Given the description of an element on the screen output the (x, y) to click on. 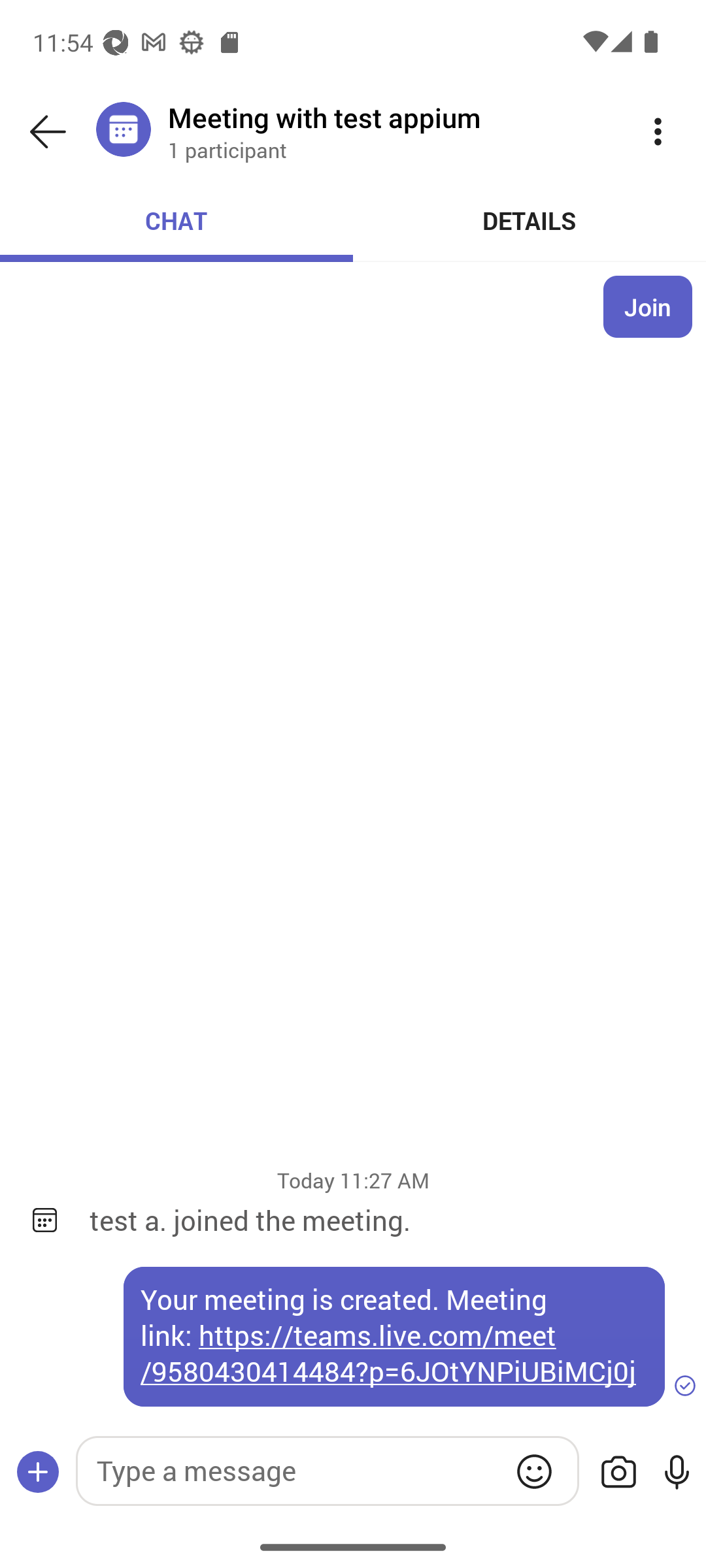
Back (48, 131)
More options (657, 131)
Details DETAILS (529, 220)
Join (647, 306)
test a. joined the meeting. (383, 1219)
Compose options, collapsed (37, 1471)
Button for loading camera action functionality (618, 1471)
Type a message (326, 1470)
GIFs and emojis picker (533, 1471)
